Given the description of an element on the screen output the (x, y) to click on. 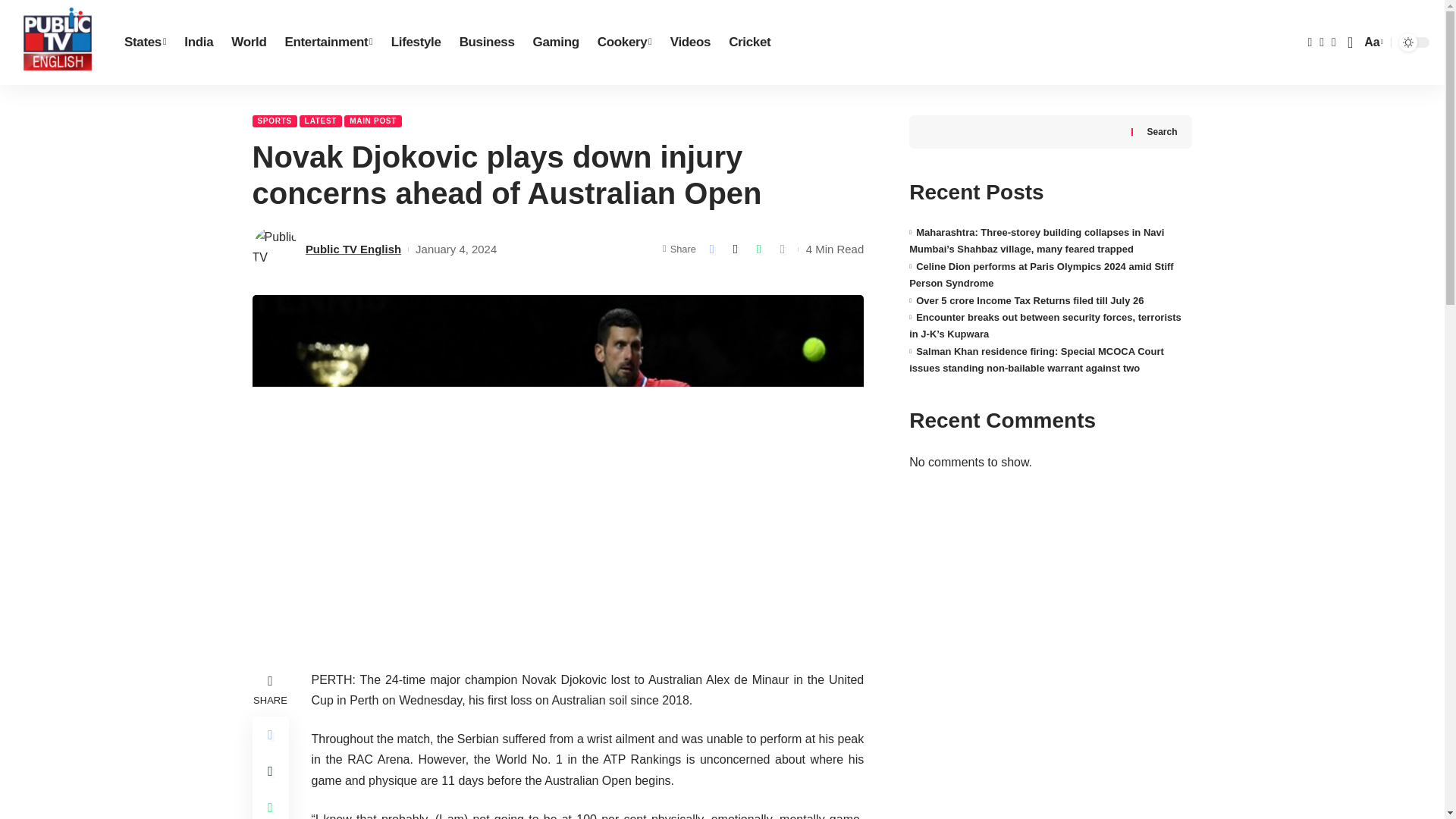
Public TV English (57, 42)
India (198, 42)
Gaming (555, 42)
World (248, 42)
Entertainment (1371, 41)
Lifestyle (328, 42)
States (415, 42)
Cookery (144, 42)
Business (624, 42)
Videos (486, 42)
Cricket (690, 42)
